Given the description of an element on the screen output the (x, y) to click on. 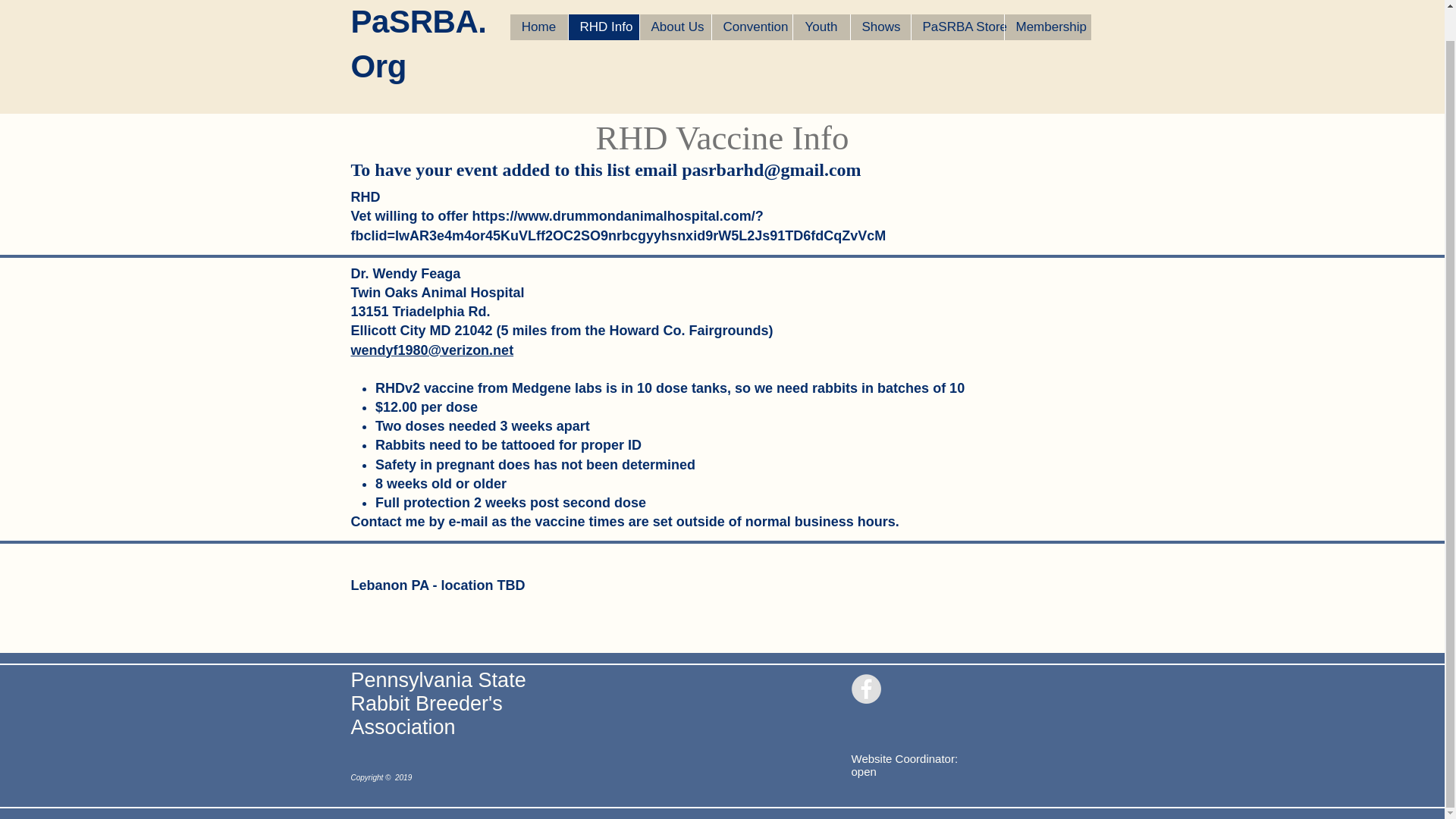
PaSRBA Store (956, 27)
Home (538, 27)
RHD Info (603, 27)
